Given the description of an element on the screen output the (x, y) to click on. 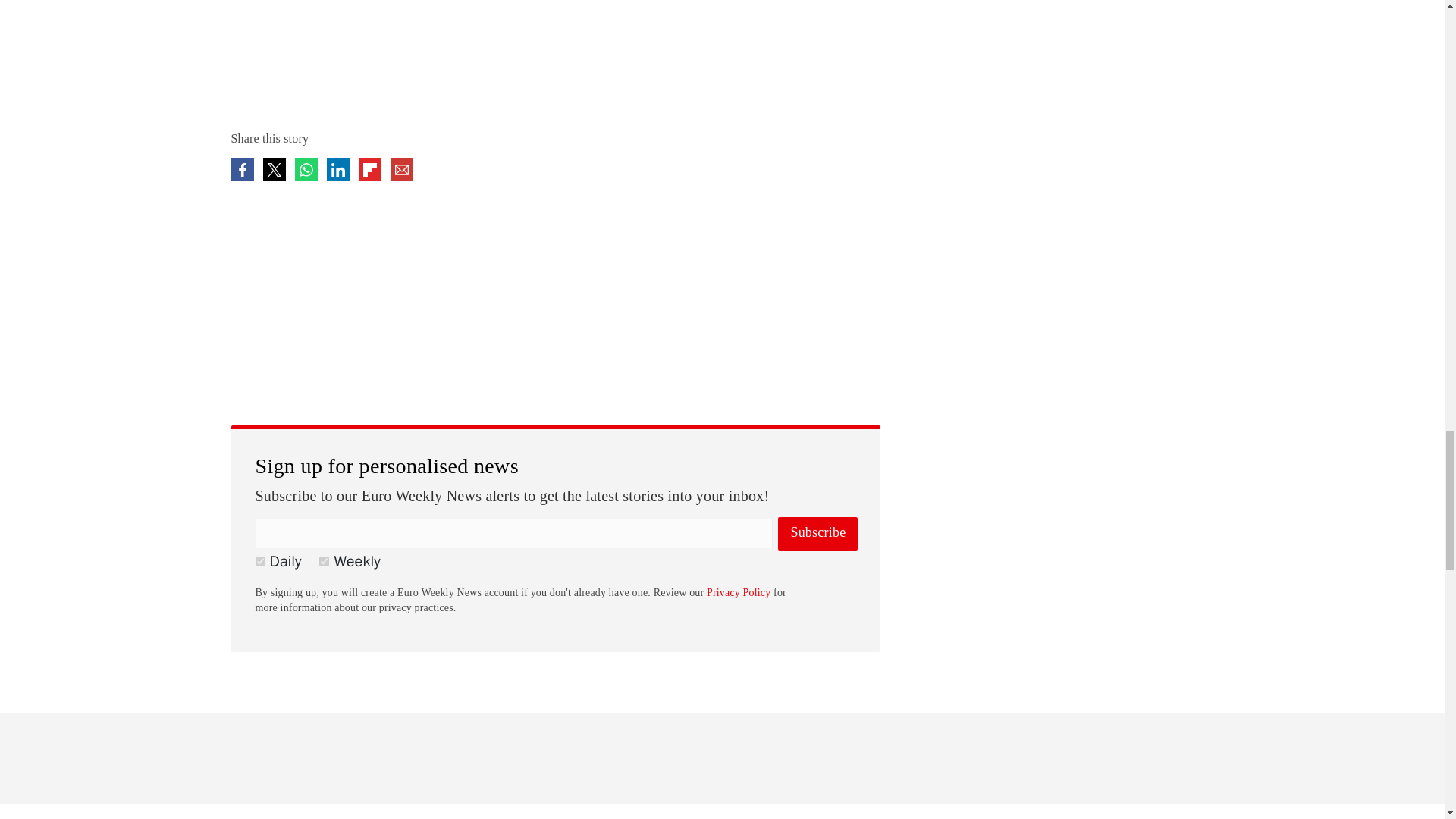
7 (323, 561)
6 (259, 561)
Subscribe (817, 533)
